Given the description of an element on the screen output the (x, y) to click on. 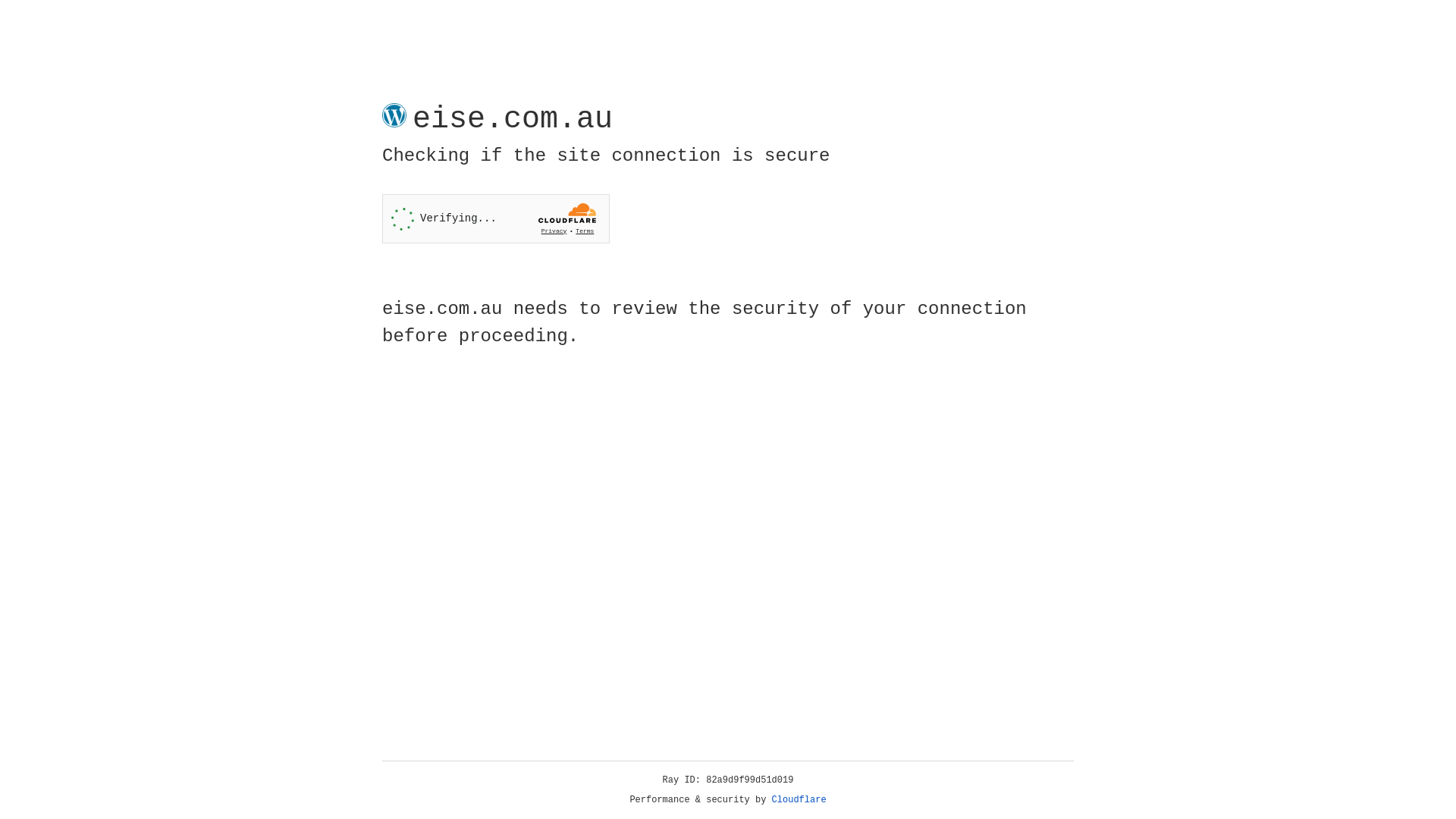
Cloudflare Element type: text (798, 799)
Widget containing a Cloudflare security challenge Element type: hover (495, 218)
